Given the description of an element on the screen output the (x, y) to click on. 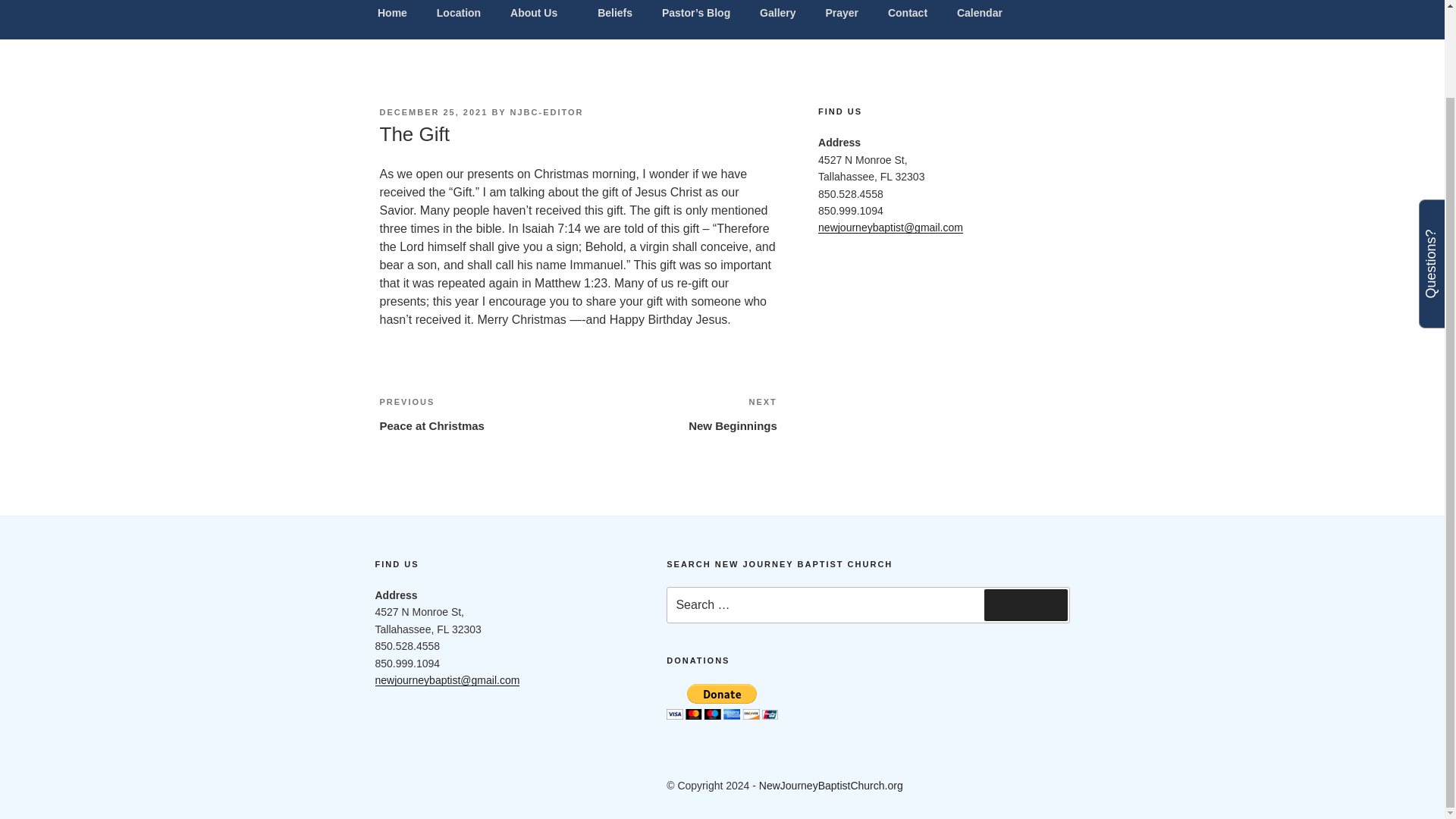
Search (1025, 604)
PayPal - The safer, easier way to pay online! (721, 701)
Contact (907, 15)
Calendar (978, 15)
DECEMBER 25, 2021 (432, 112)
NewJourneyBaptistChurch.org (830, 785)
Location (458, 15)
About Us (538, 15)
New Journey Baptist Church (577, 19)
Email (474, 786)
Facebook (478, 413)
Beliefs (406, 786)
Gallery (615, 15)
Home (777, 15)
